Given the description of an element on the screen output the (x, y) to click on. 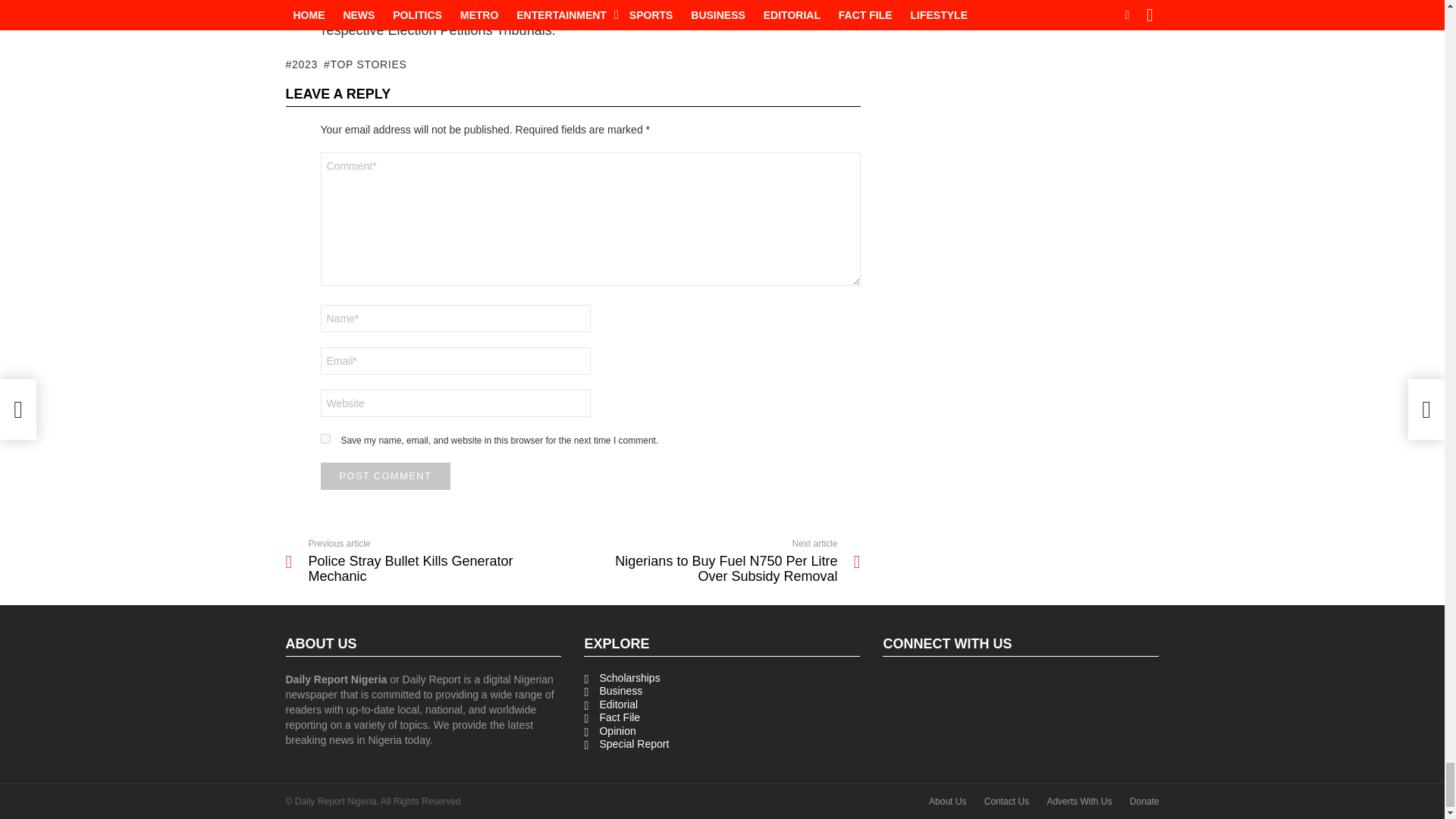
yes (325, 438)
Post Comment (384, 475)
